Given the description of an element on the screen output the (x, y) to click on. 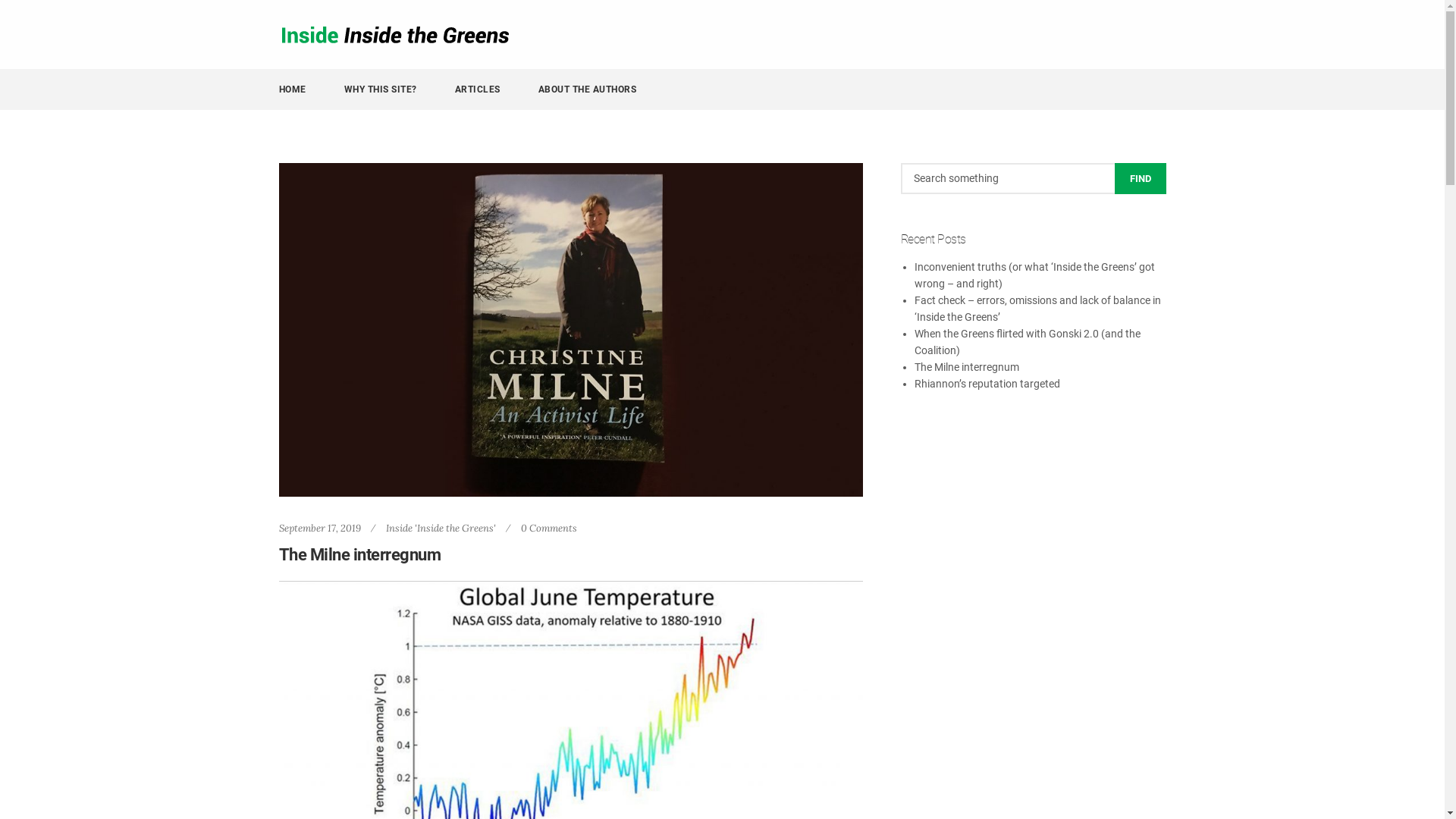
When the Greens flirted with Gonski 2.0 (and the Coalition) Element type: text (1027, 341)
Inside 'Inside the Greens' Element type: text (440, 527)
HOME Element type: text (304, 89)
FIND Element type: text (1140, 178)
The Milne interregnum Element type: text (966, 366)
ARTICLES Element type: text (489, 89)
0 Comments Element type: text (548, 527)
WHY THIS SITE? Element type: text (391, 89)
ABOUT THE AUTHORS Element type: text (587, 89)
